Given the description of an element on the screen output the (x, y) to click on. 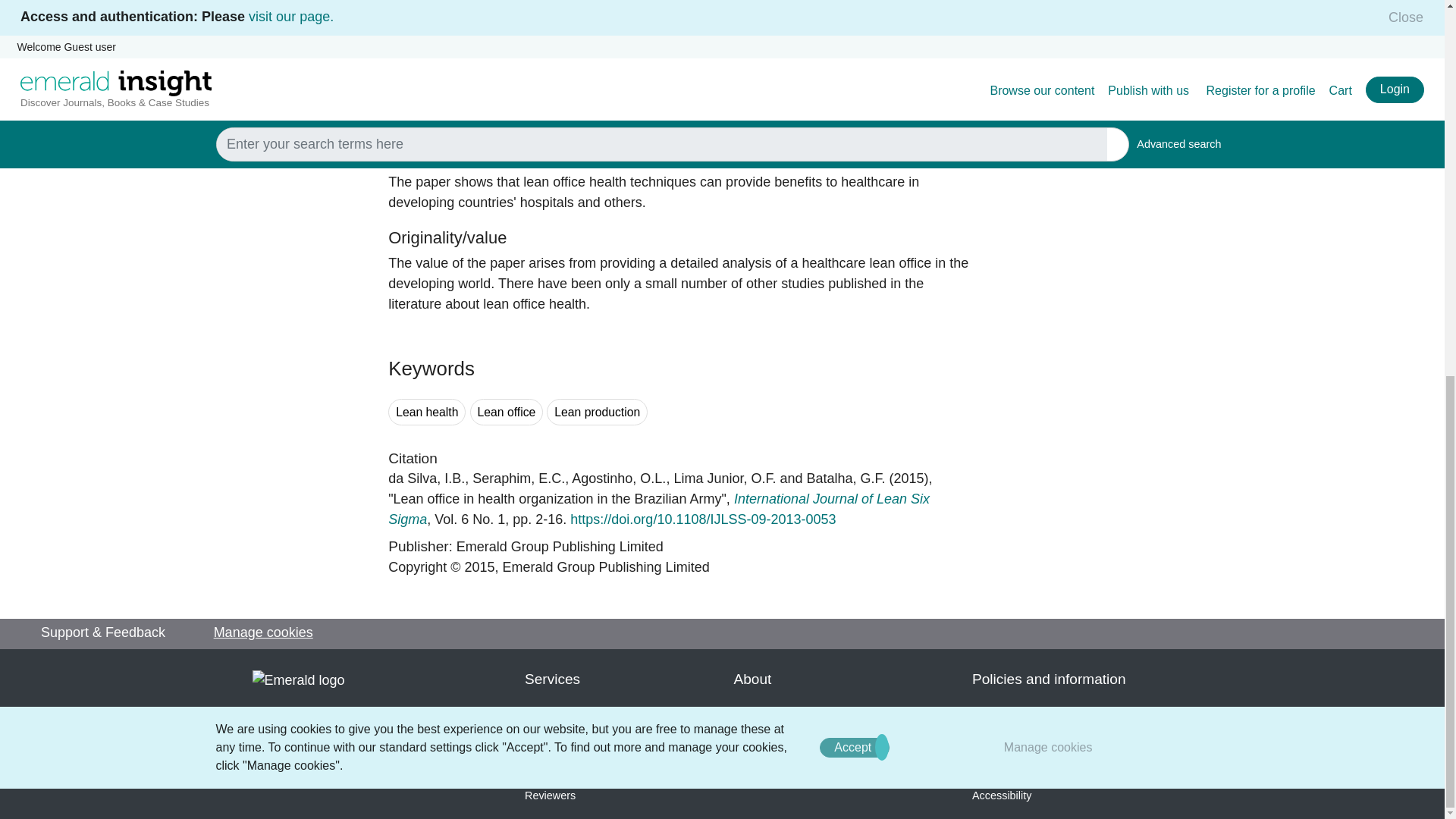
Search for keyword Lean production (597, 411)
Gilmar Ferreira Batalha (845, 478)
Oswaldo Luiz Agostinho (618, 478)
Search for keyword Lean health (426, 411)
Orlando Fontes Lima Junior (724, 478)
Iris Bento da Silva (426, 478)
Manage cookies (1047, 55)
Everton Cesar Seraphim (517, 478)
Search for keyword Lean office (506, 411)
Accept (853, 55)
